Given the description of an element on the screen output the (x, y) to click on. 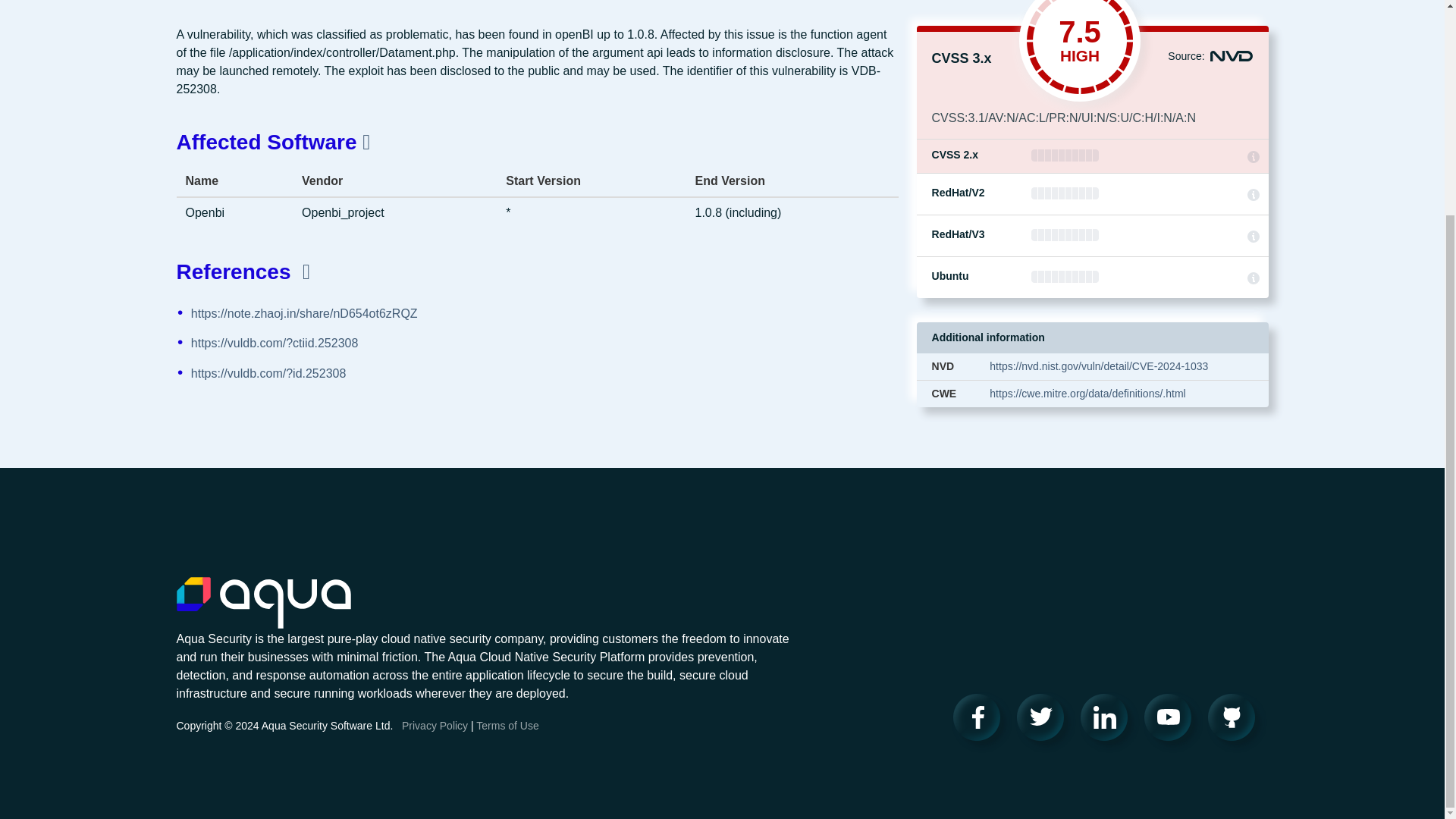
git (1236, 722)
youtube (1172, 722)
facebook (981, 724)
linkedin (1108, 723)
Aqua Container Security (263, 605)
twitter (1045, 723)
Privacy Policy (434, 734)
Terms of Use (507, 734)
Aqua Container Security (263, 613)
